Given the description of an element on the screen output the (x, y) to click on. 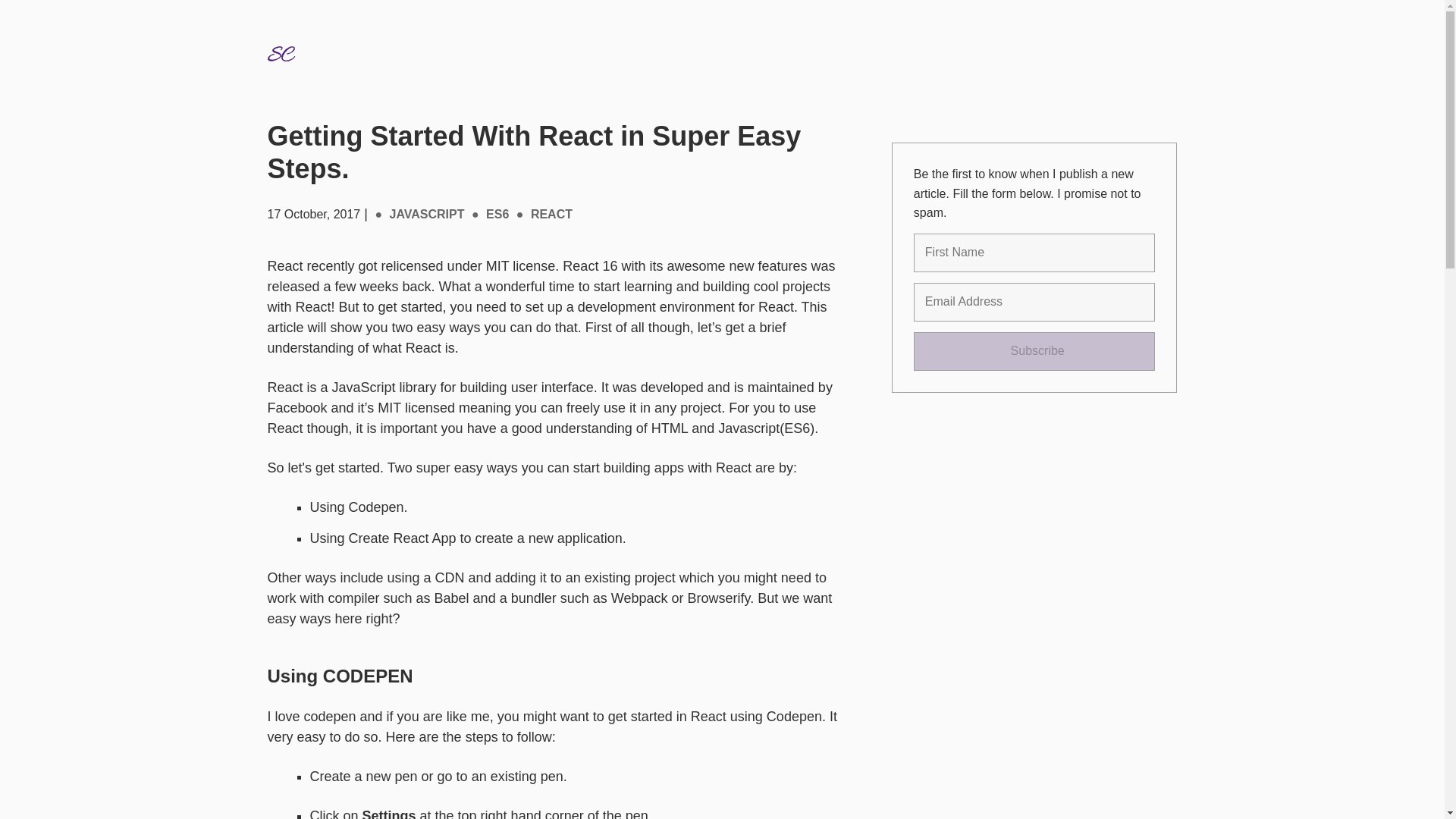
Subscribe (1035, 351)
Subscribe (1035, 351)
